Given the description of an element on the screen output the (x, y) to click on. 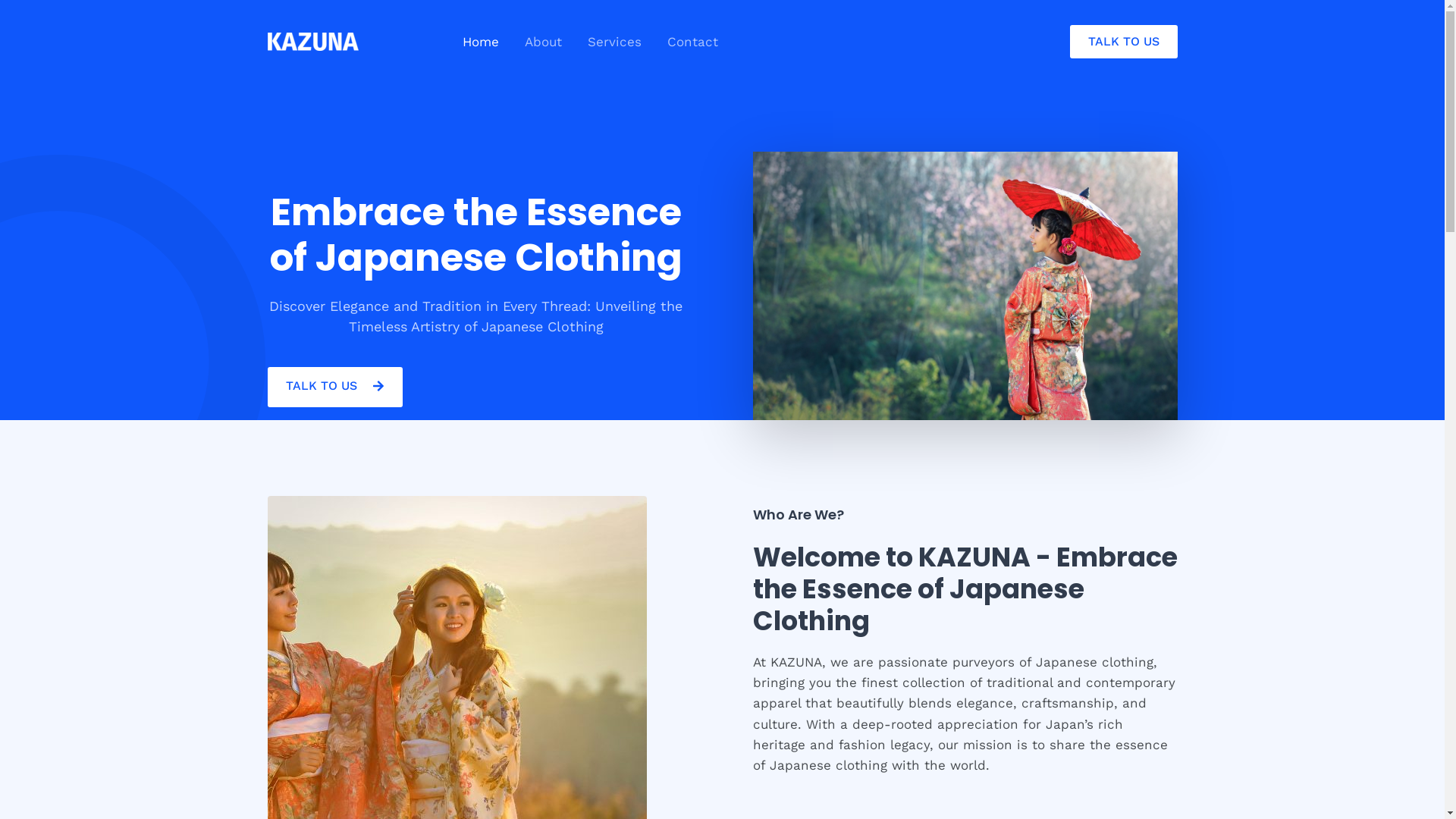
Contact Element type: text (691, 41)
TALK TO US Element type: text (1122, 41)
About Element type: text (542, 41)
Services Element type: text (614, 41)
Home Element type: text (479, 41)
TALK TO US Element type: text (333, 387)
